Given the description of an element on the screen output the (x, y) to click on. 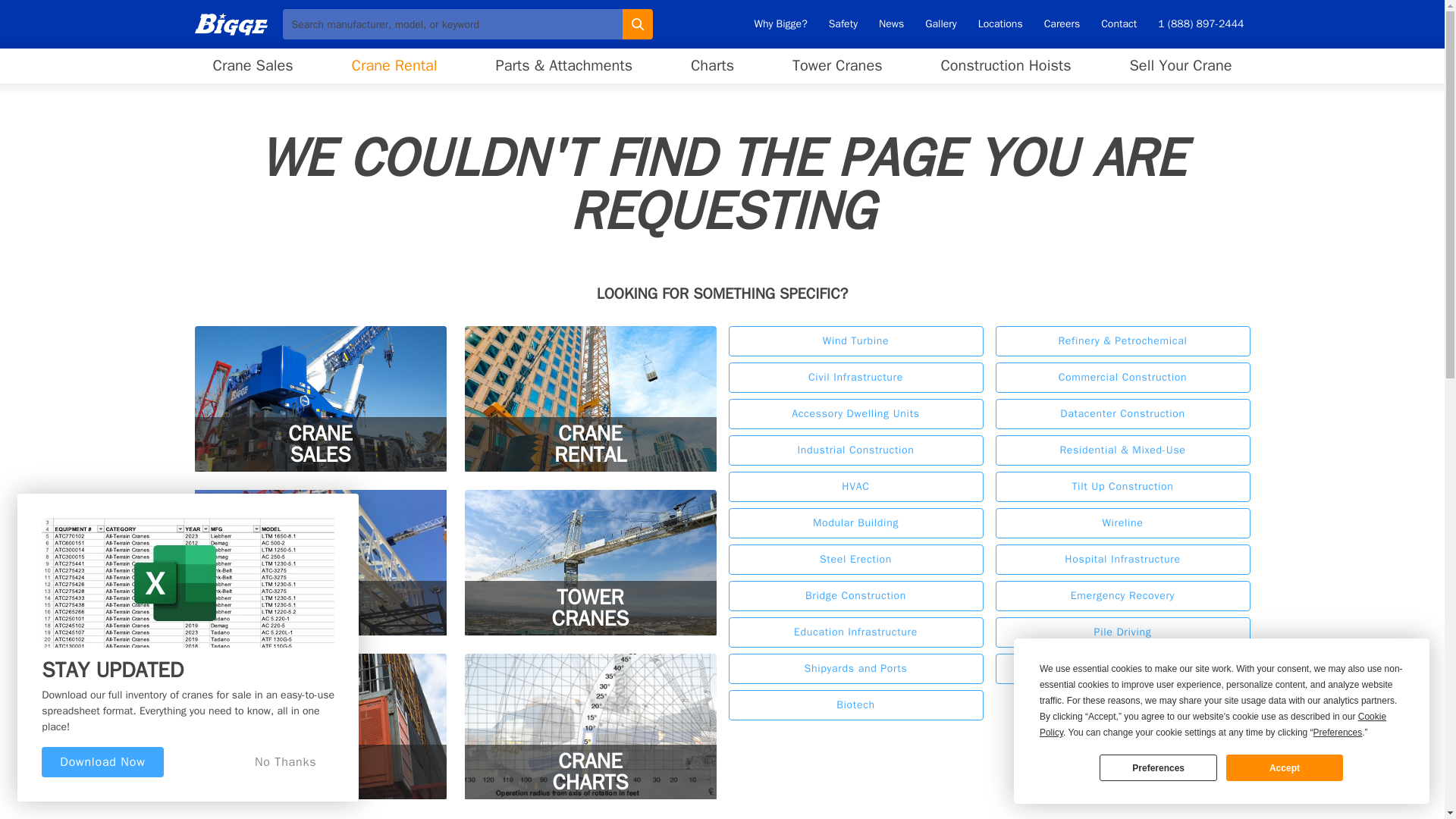
News (891, 24)
Crane Rental (319, 398)
No Thanks (394, 65)
Download Now (284, 761)
Preferences (102, 761)
Tower Cranes (1157, 767)
Sell Your Crane (837, 65)
Why Bigge? (1179, 65)
Gallery (780, 24)
Charts (940, 24)
Crane Sales (711, 65)
Careers (252, 65)
